Given the description of an element on the screen output the (x, y) to click on. 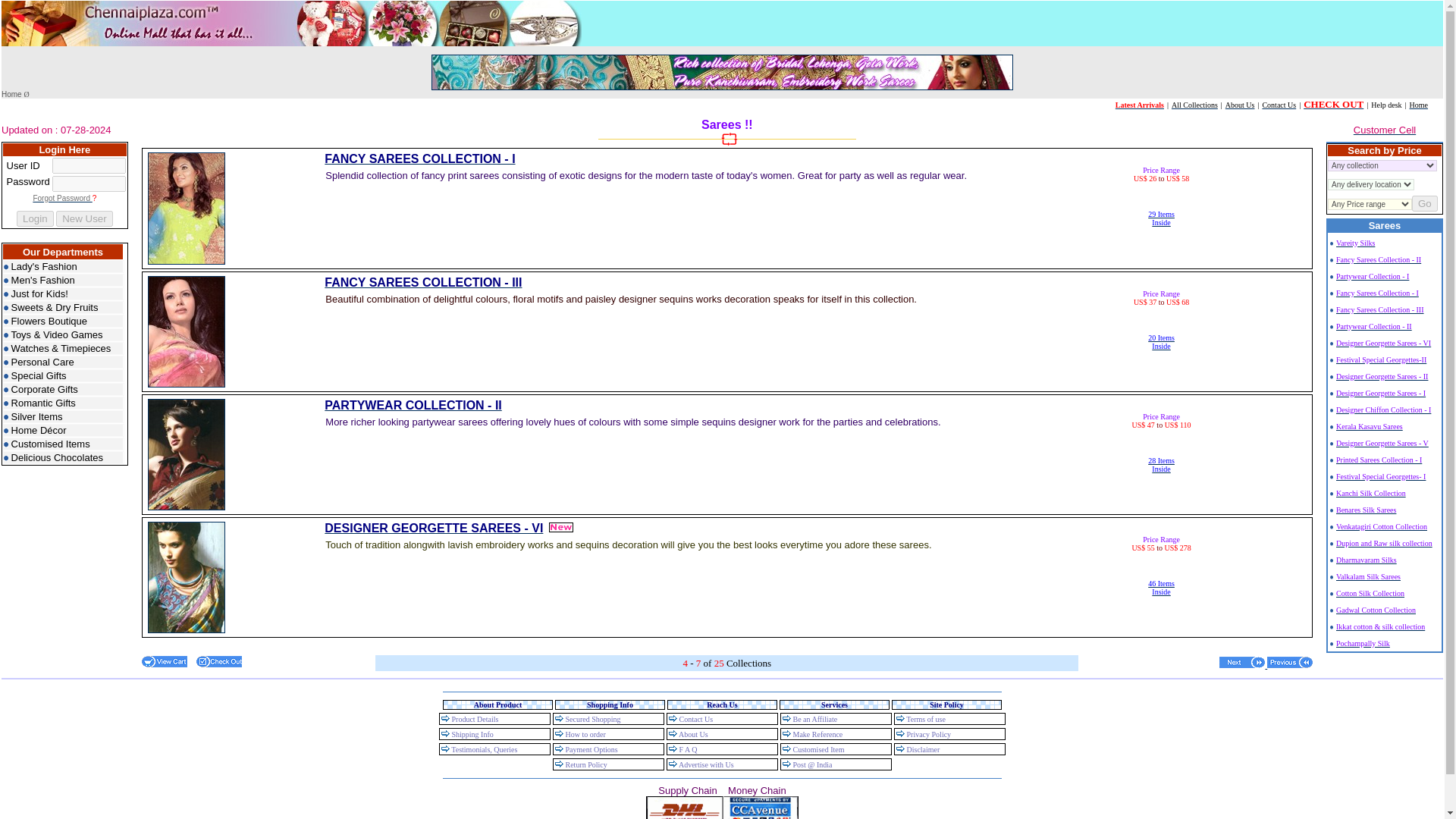
Personal Care (62, 361)
Delicious Chocolates (62, 457)
Romantic Gifts (1161, 340)
Go (62, 402)
Login (1425, 203)
DESIGNER GEORGETTE SAREES - VI (34, 218)
Contact Us (433, 527)
Latest Arrivals (1278, 103)
Men's Fashion (1139, 103)
New User (62, 279)
Silver Items (84, 218)
Help desk (62, 416)
